Given the description of an element on the screen output the (x, y) to click on. 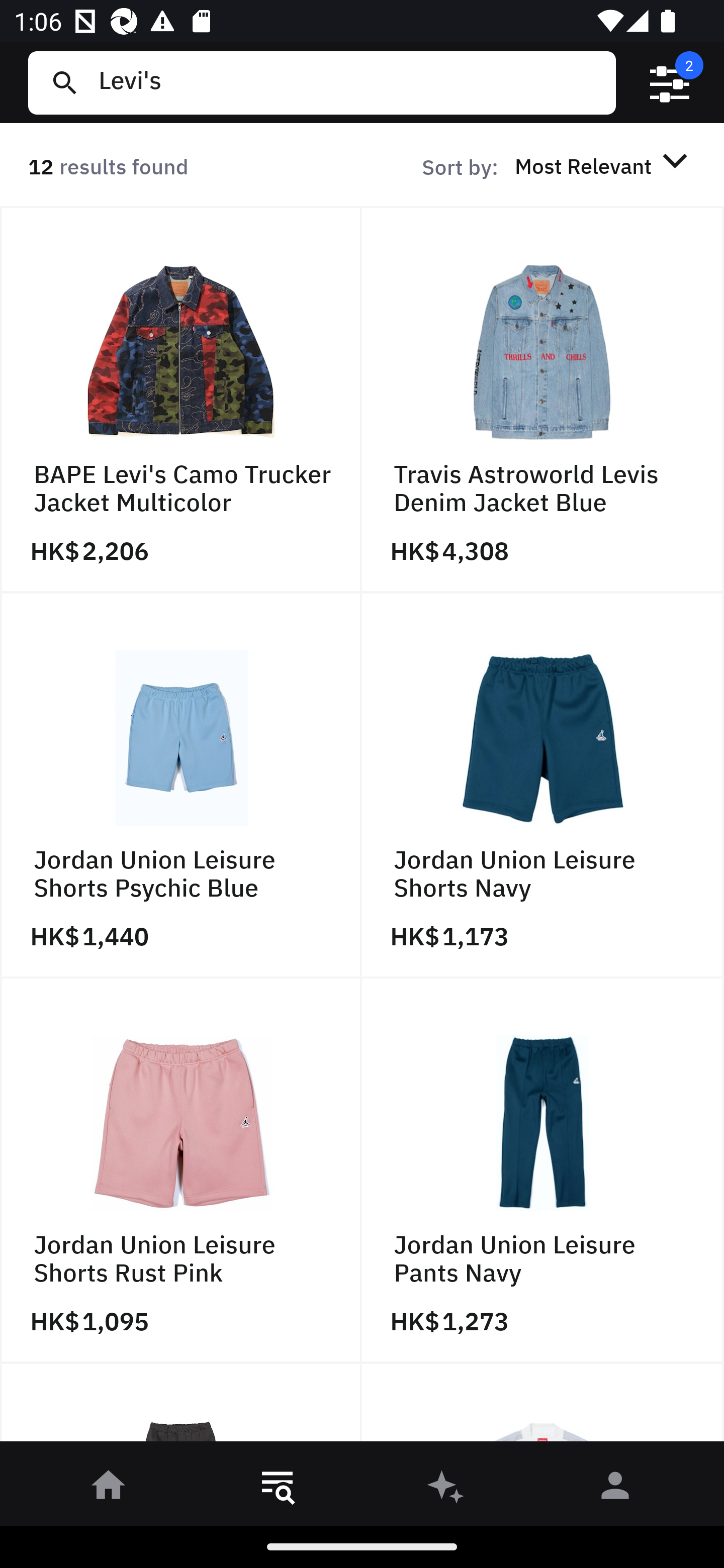
Levi's (349, 82)
 (669, 82)
Most Relevant  (604, 165)
Jordan Union Leisure Shorts Psychic Blue HK$ 1,440 (181, 785)
Jordan Union Leisure Shorts Navy HK$ 1,173 (543, 785)
Jordan Union Leisure Shorts Rust Pink HK$ 1,095 (181, 1171)
Jordan Union Leisure Pants Navy HK$ 1,273 (543, 1171)
󰋜 (108, 1488)
󱎸 (277, 1488)
󰫢 (446, 1488)
󰀄 (615, 1488)
